Given the description of an element on the screen output the (x, y) to click on. 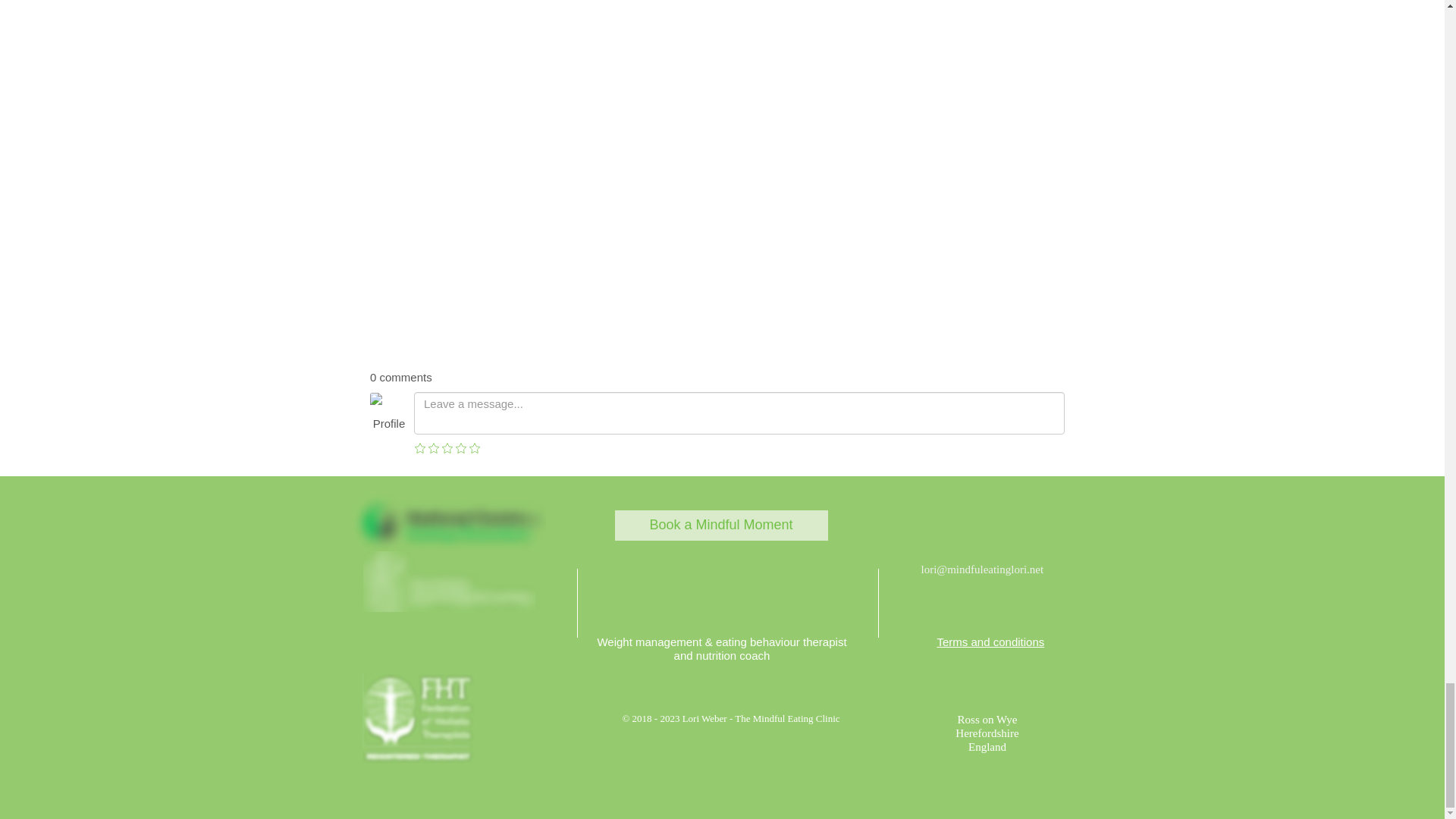
Comments (717, 417)
